Given the description of an element on the screen output the (x, y) to click on. 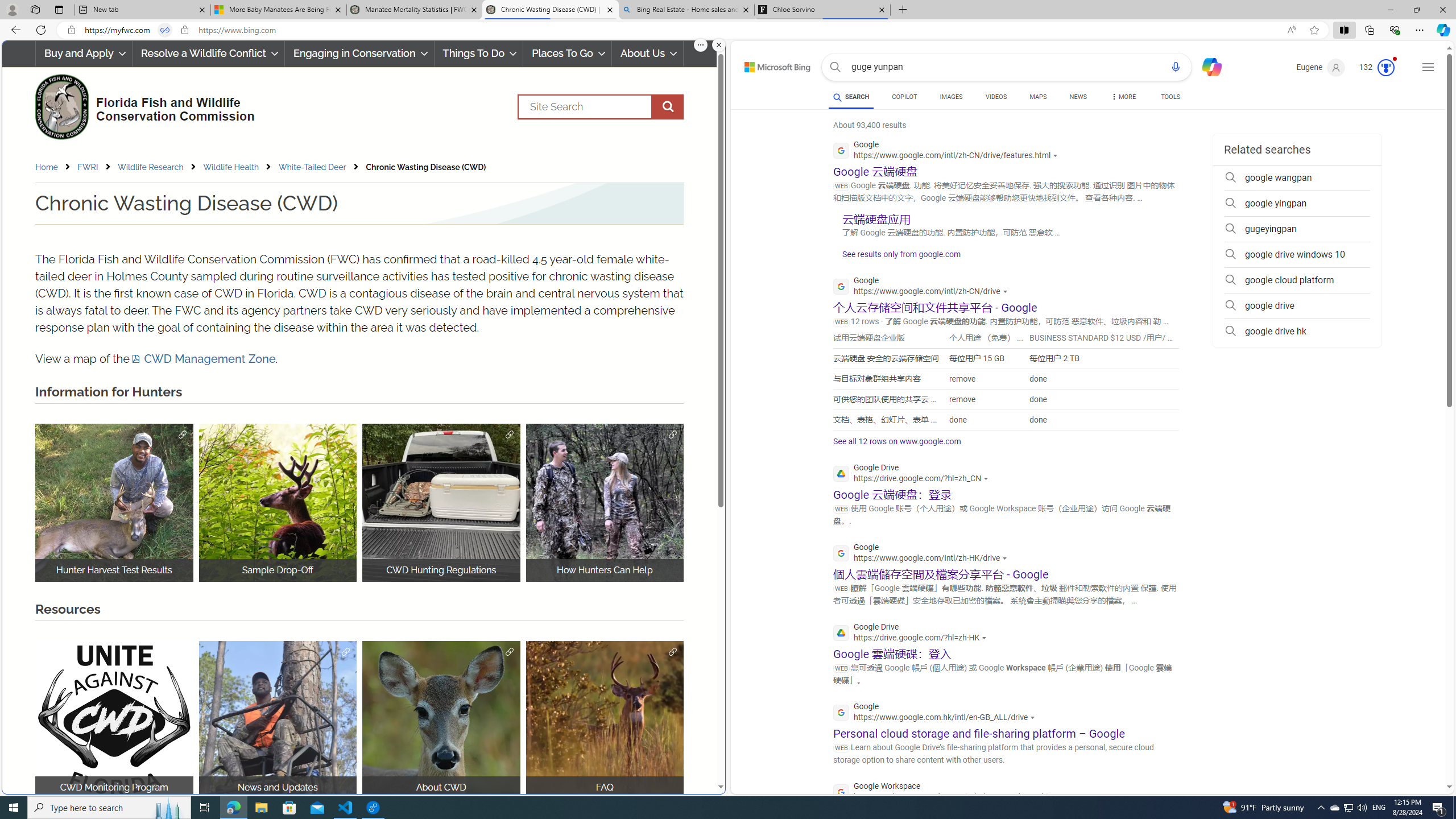
google drive hk (1297, 331)
Read aloud this page (Ctrl+Shift+U) (1291, 29)
About CWD white-tailed deer (440, 720)
Chloe Sorvino (822, 9)
Joe Budd WMA (604, 502)
View site information (184, 29)
COPILOT (903, 98)
Global web icon (841, 791)
